Given the description of an element on the screen output the (x, y) to click on. 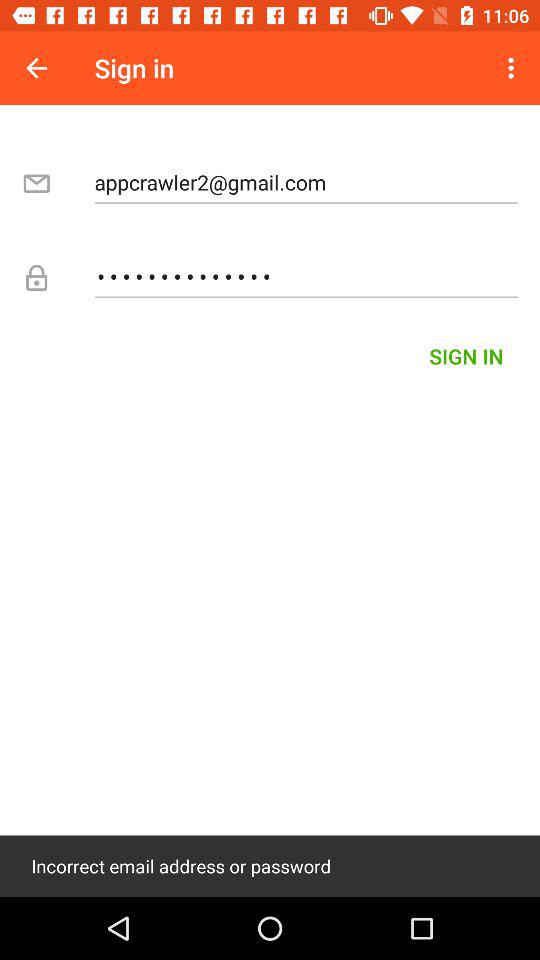
turn on the icon next to sign in (36, 68)
